Given the description of an element on the screen output the (x, y) to click on. 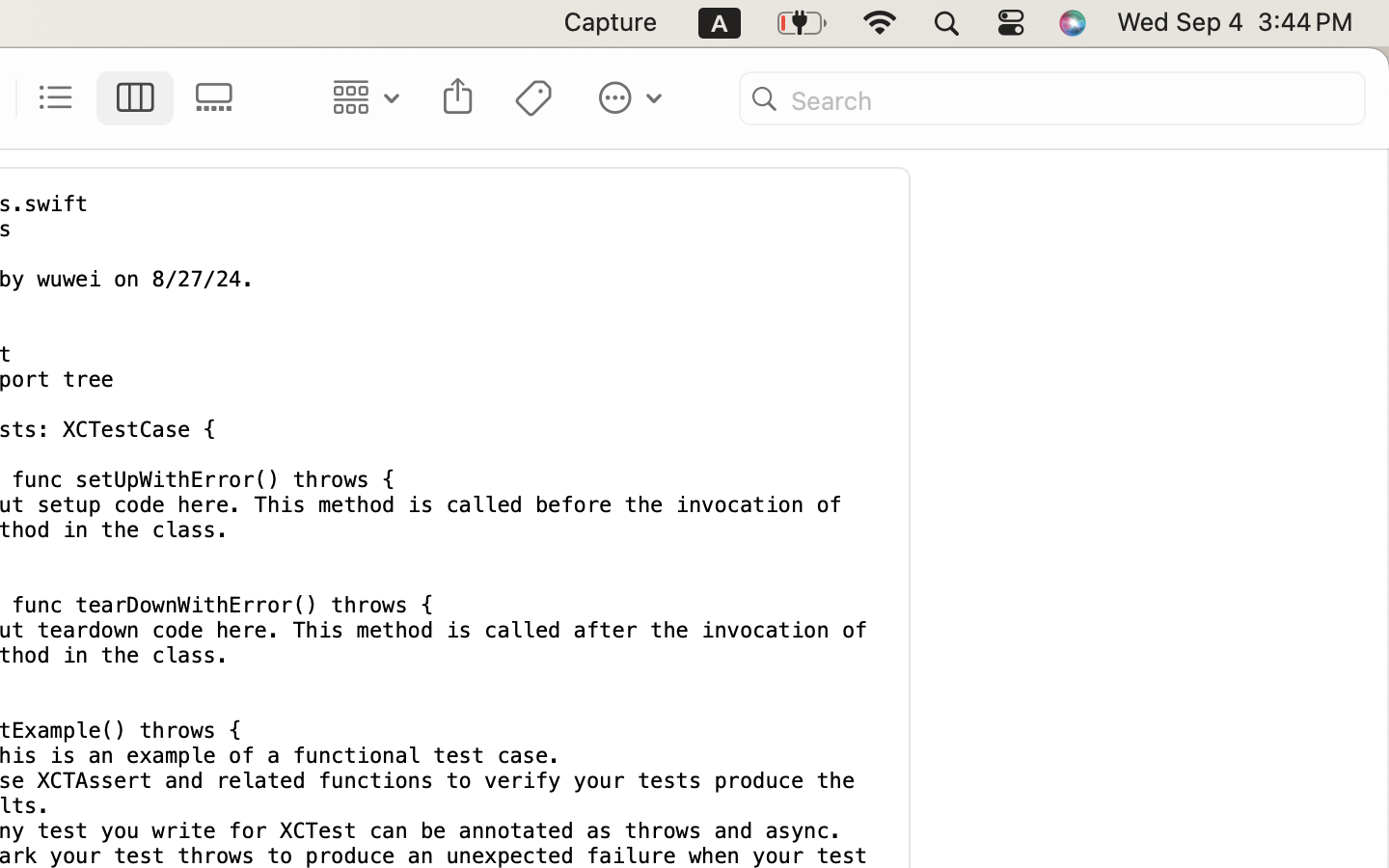
1 Element type: AXRadioButton (135, 97)
0 Element type: AXRadioButton (219, 97)
